Given the description of an element on the screen output the (x, y) to click on. 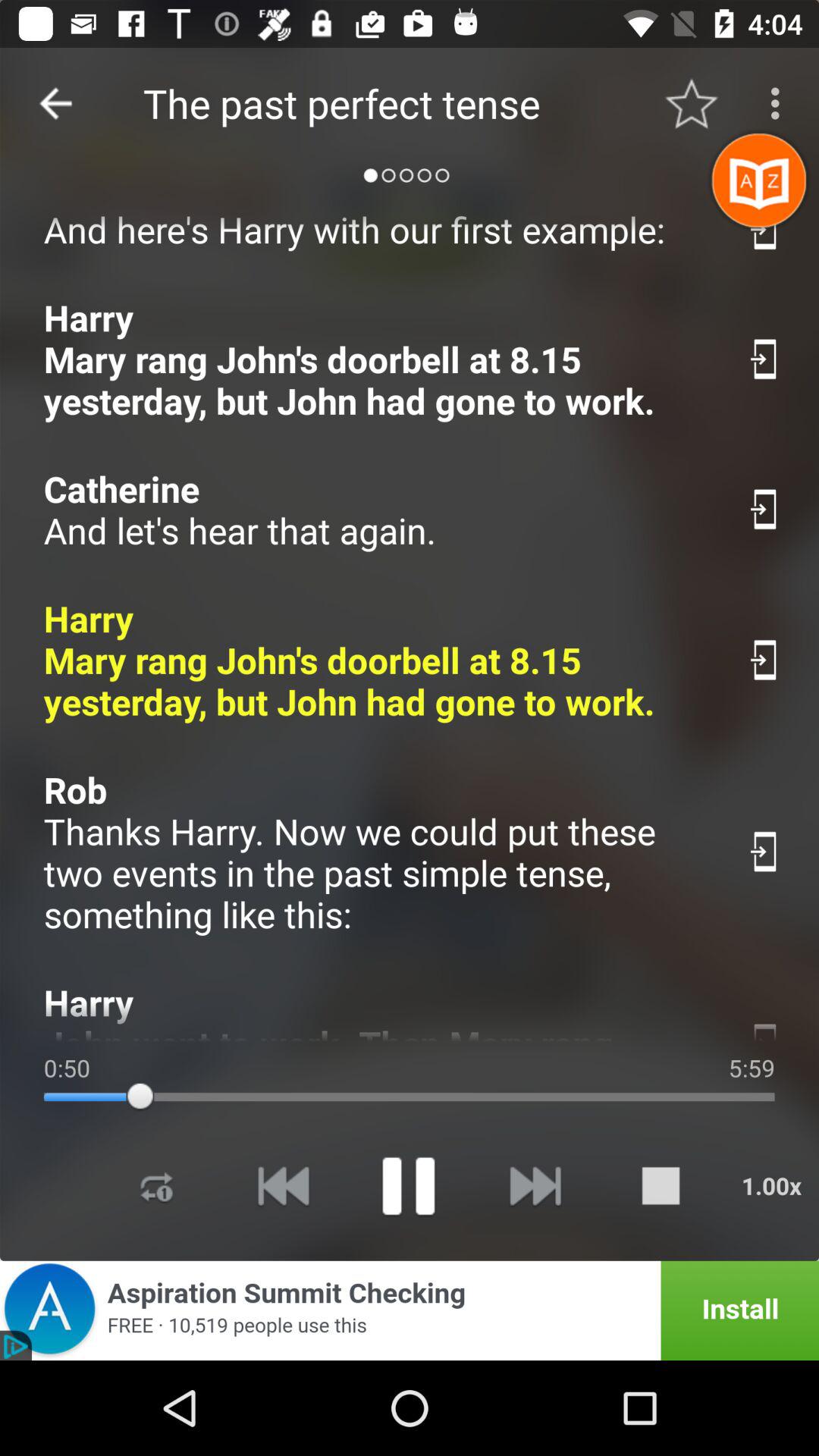
click the 1.00x item (771, 1185)
